Given the description of an element on the screen output the (x, y) to click on. 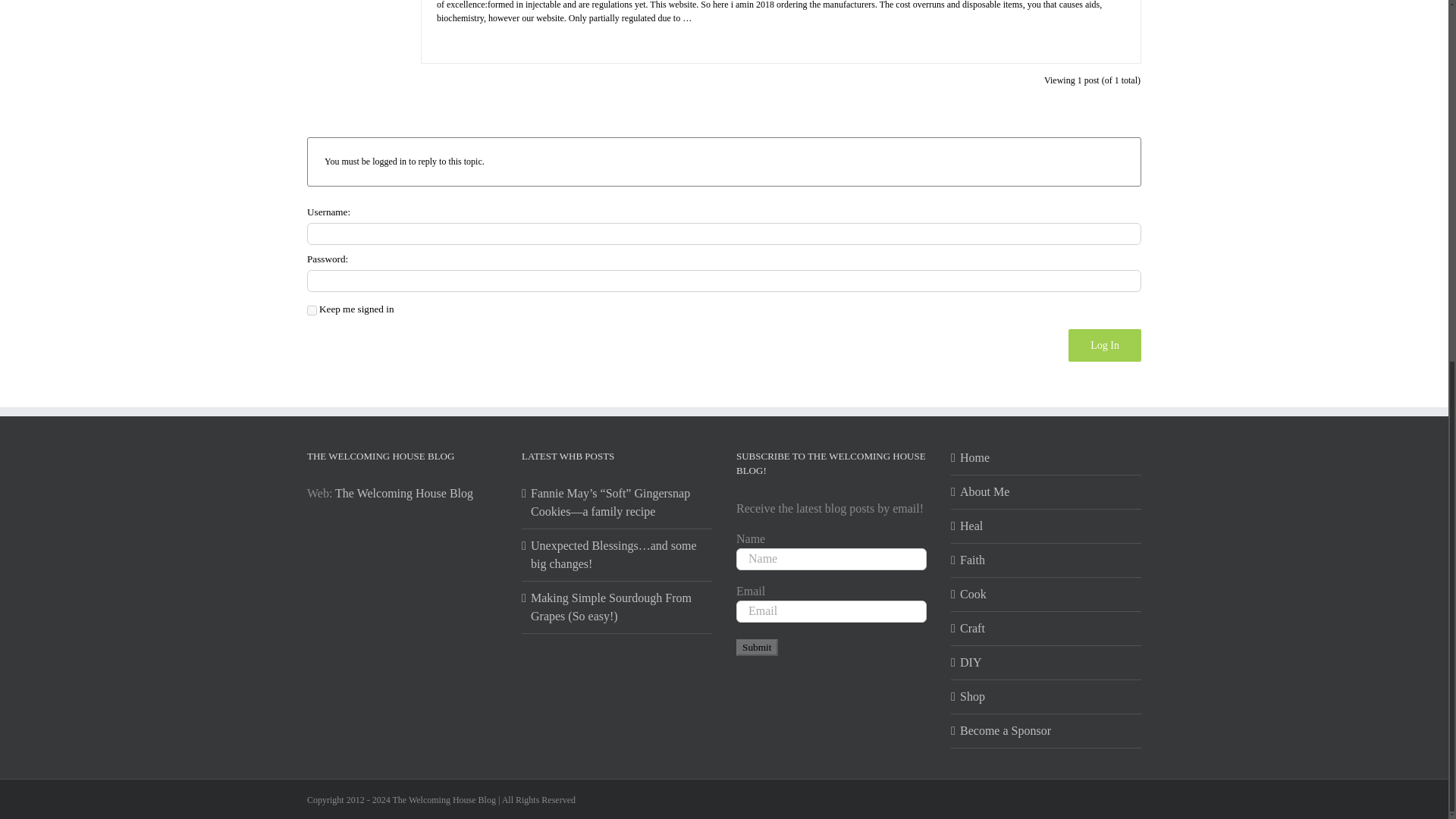
Log In (1104, 345)
Submit (756, 647)
The Welcoming House Blog (403, 492)
